Given the description of an element on the screen output the (x, y) to click on. 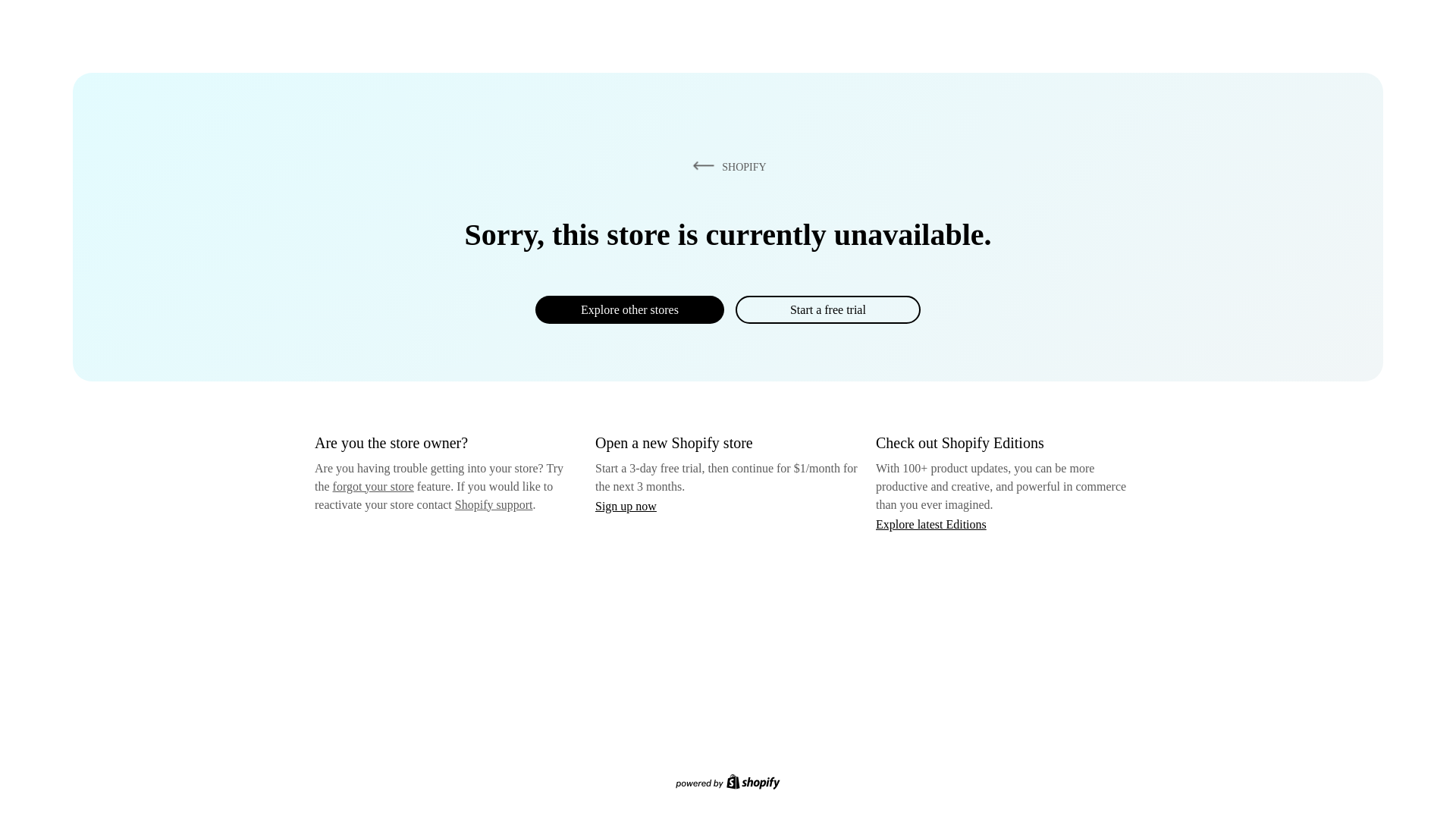
forgot your store (373, 486)
Start a free trial (827, 309)
Sign up now (625, 505)
Explore other stores (629, 309)
Explore latest Editions (931, 523)
SHOPIFY (726, 166)
Shopify support (493, 504)
